Given the description of an element on the screen output the (x, y) to click on. 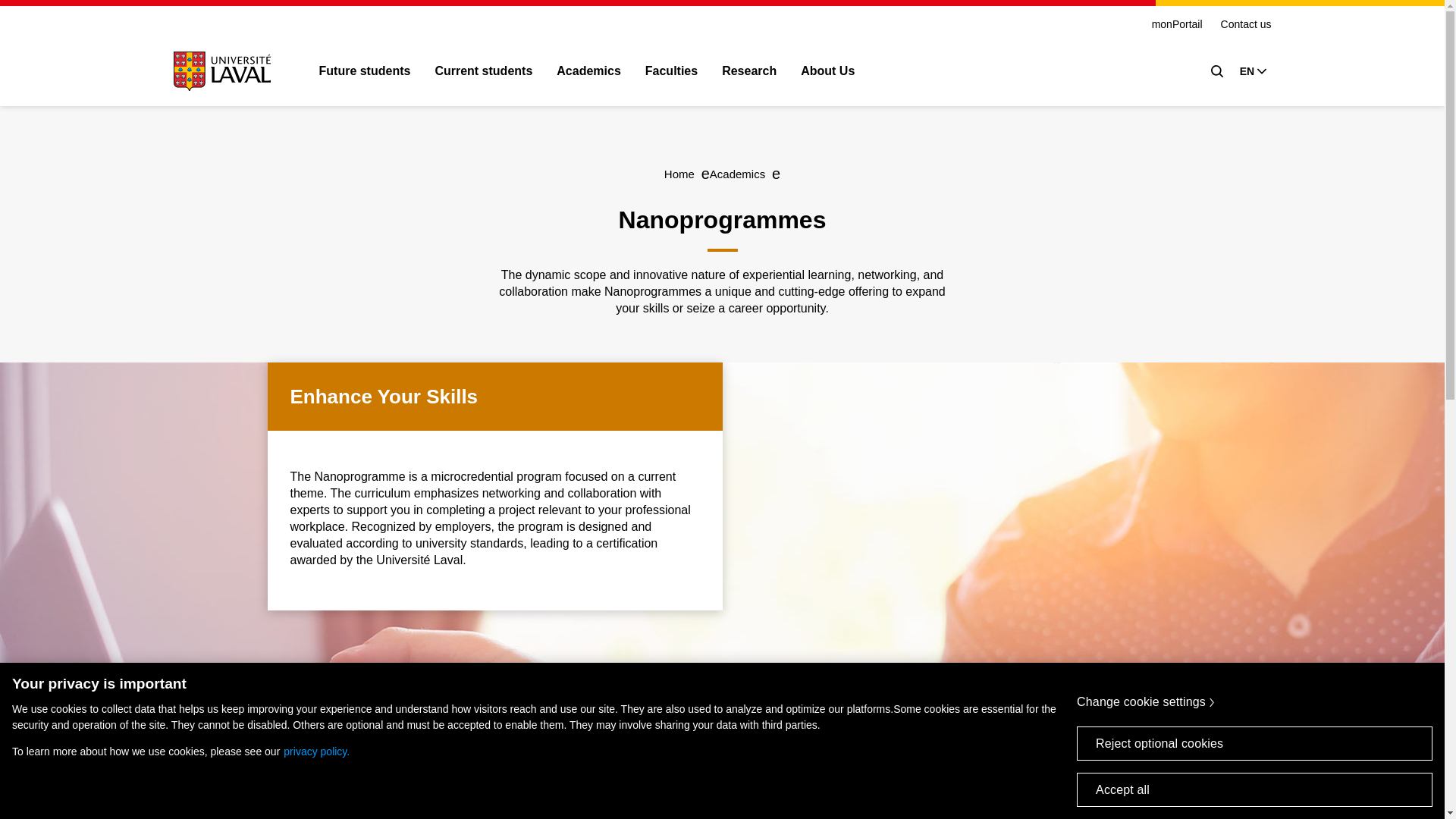
Research (749, 73)
About Us (827, 73)
Faculties (671, 73)
Future students (364, 73)
Contact us (1246, 24)
Academics (588, 73)
monPortail (1176, 24)
Academics (737, 173)
What is a Nanoprogramme? (410, 788)
Evaluation (1032, 788)
EN (1252, 71)
Home (678, 173)
Current students (482, 73)
